Given the description of an element on the screen output the (x, y) to click on. 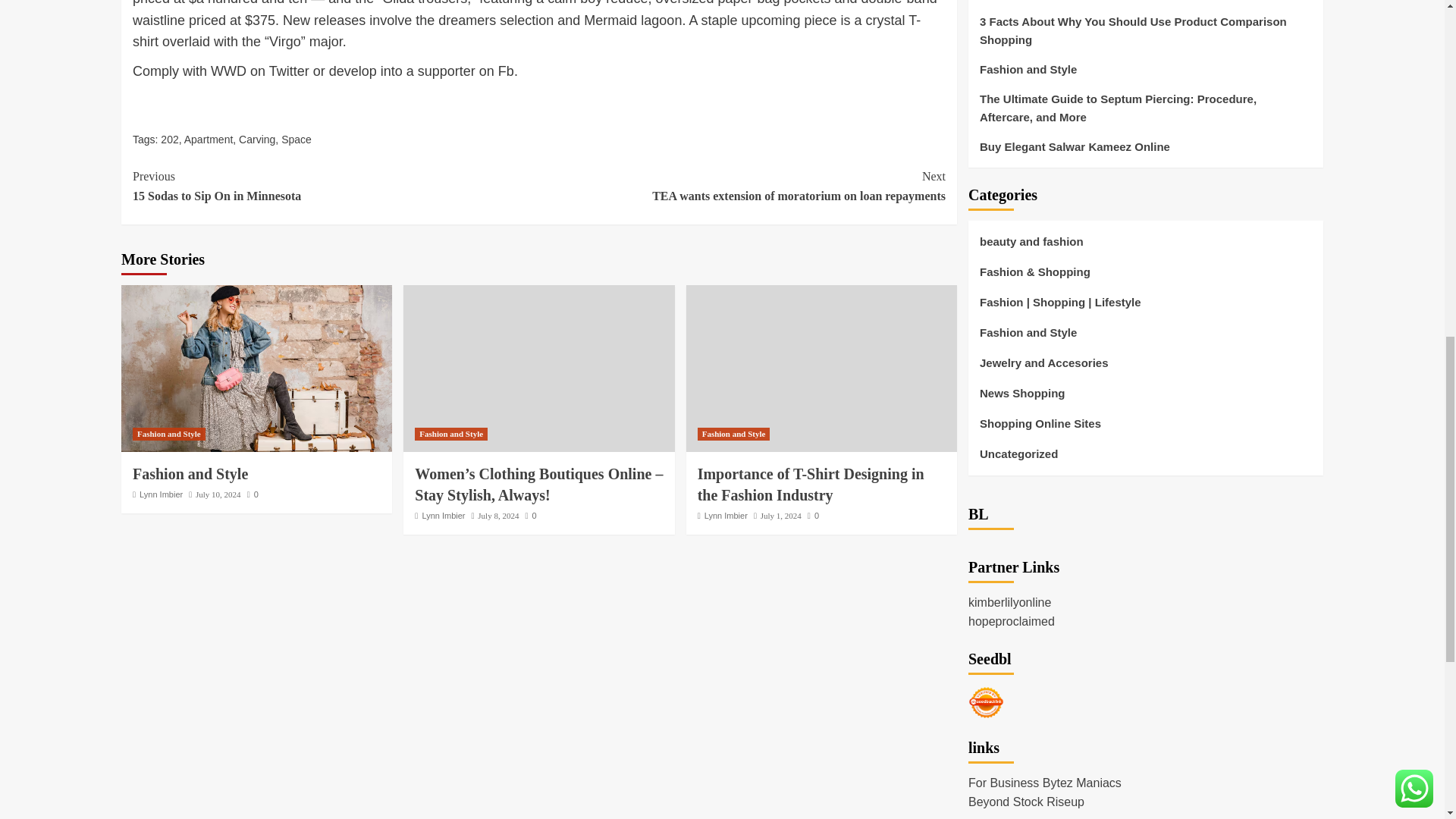
0 (253, 493)
Apartment (741, 186)
July 8, 2024 (208, 139)
Fashion and Style (497, 515)
Carving (335, 186)
July 10, 2024 (168, 433)
Fashion and Style (256, 139)
Fashion and Style (218, 493)
Space (255, 368)
Fashion and Style (450, 433)
Lynn Imbier (296, 139)
Lynn Imbier (189, 474)
Seedbacklink (161, 493)
